Given the description of an element on the screen output the (x, y) to click on. 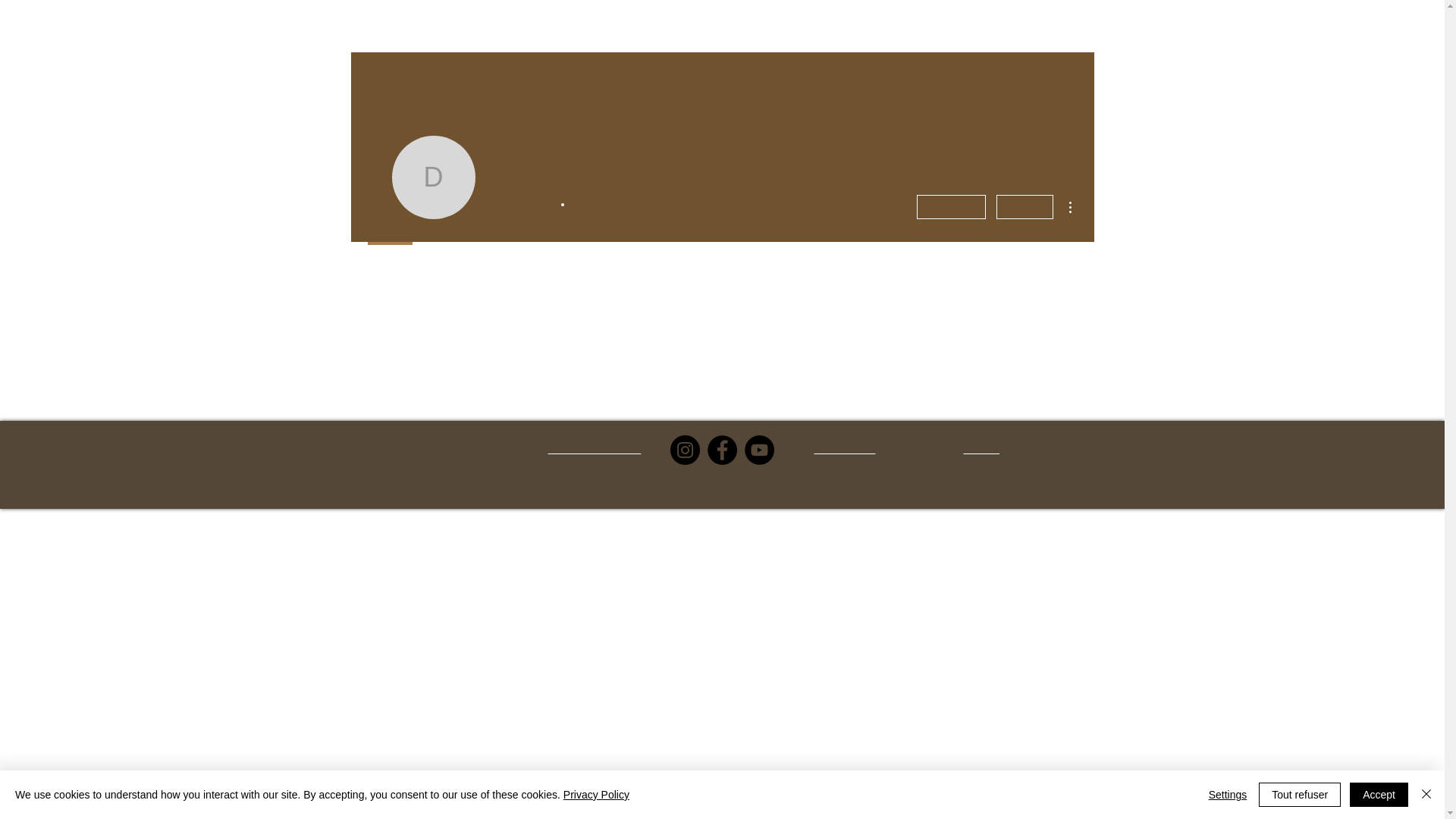
Privacy Policy Element type: text (844, 449)
LE PODCAST Element type: text (319, 20)
CONTACT Element type: text (393, 20)
Write us Element type: text (980, 449)
A PROPOS Element type: text (244, 20)
Accept Element type: text (1378, 794)
Tout refuser Element type: text (1299, 794)
0
Followers Element type: text (523, 204)
0
Following Element type: text (597, 204)
STUDIO EN LIGNE Element type: text (158, 20)
Follow Element type: text (1024, 206)
Message Element type: text (950, 206)
Terms and conditions Element type: text (593, 449)
Profile Element type: text (389, 256)
Privacy Policy Element type: text (596, 794)
Services Element type: text (78, 20)
HOME Element type: text (25, 20)
